Given the description of an element on the screen output the (x, y) to click on. 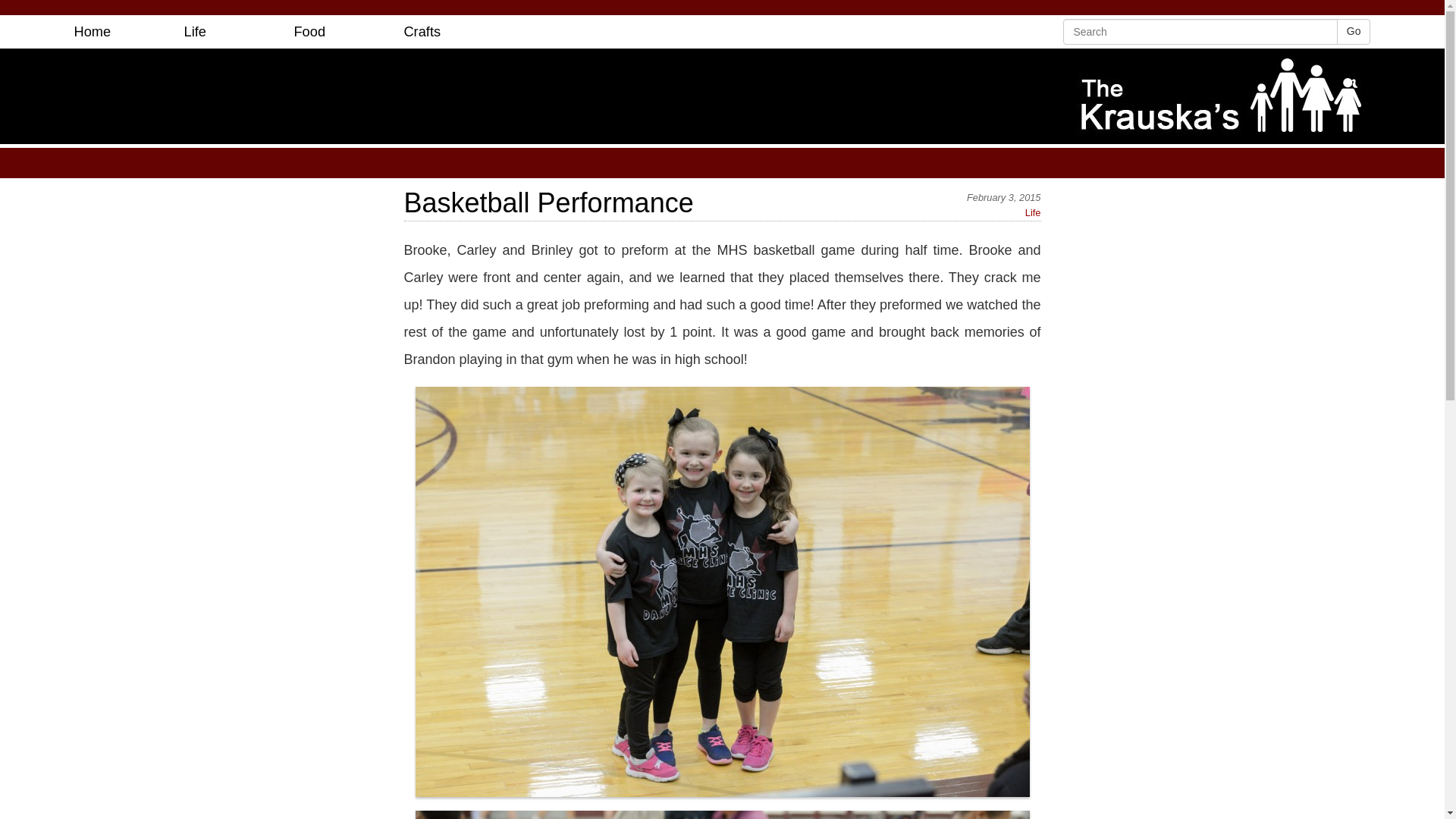
Life (1033, 212)
Go (1353, 31)
Home (93, 31)
Food (309, 31)
Crafts (422, 31)
Basketball Performance (722, 203)
Go (1353, 31)
